Given the description of an element on the screen output the (x, y) to click on. 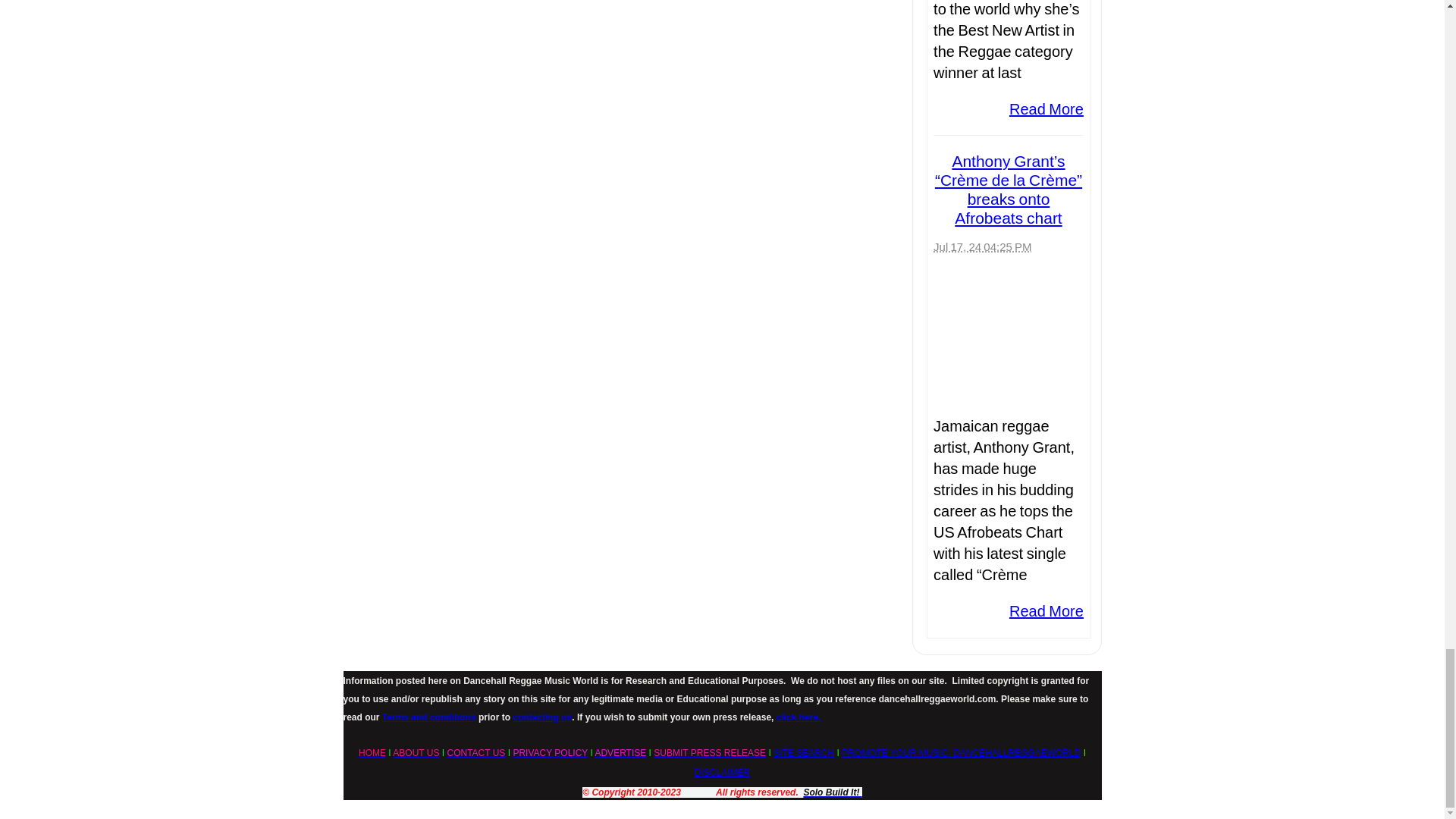
2024-07-17T16:25:32-0400 (981, 246)
